Given the description of an element on the screen output the (x, y) to click on. 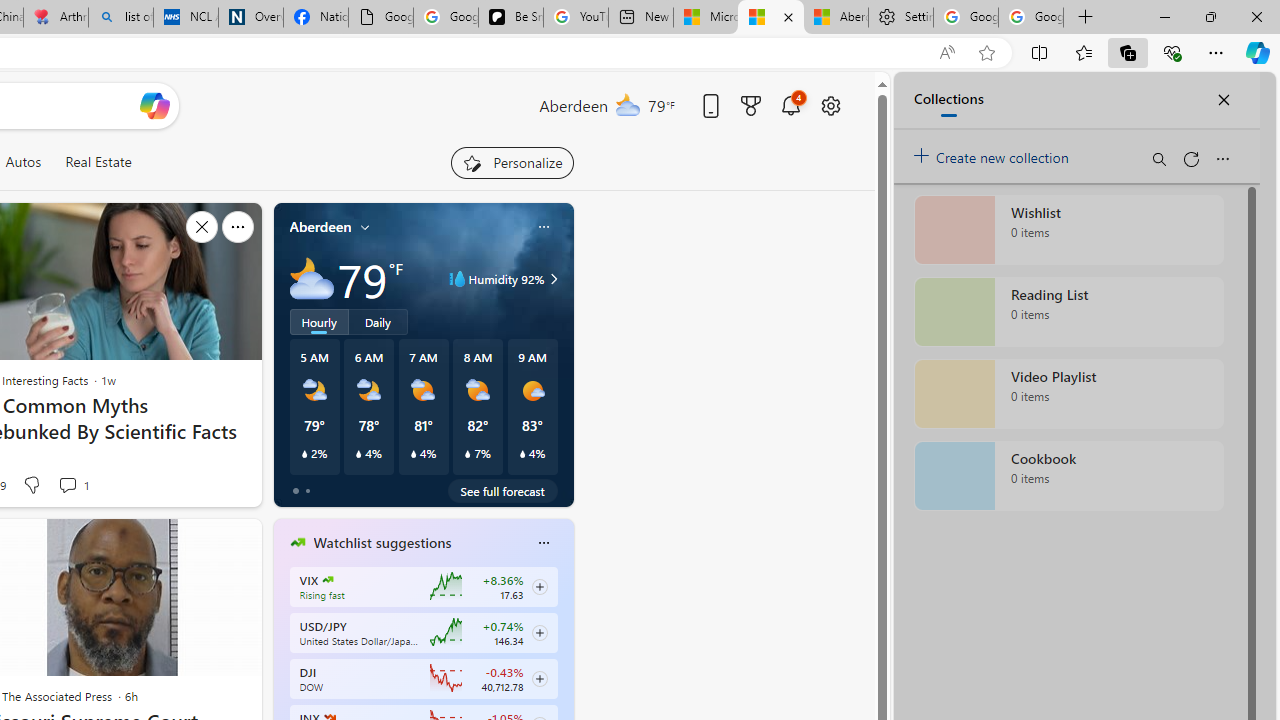
Aberdeen (320, 227)
tab-1 (306, 490)
